Given the description of an element on the screen output the (x, y) to click on. 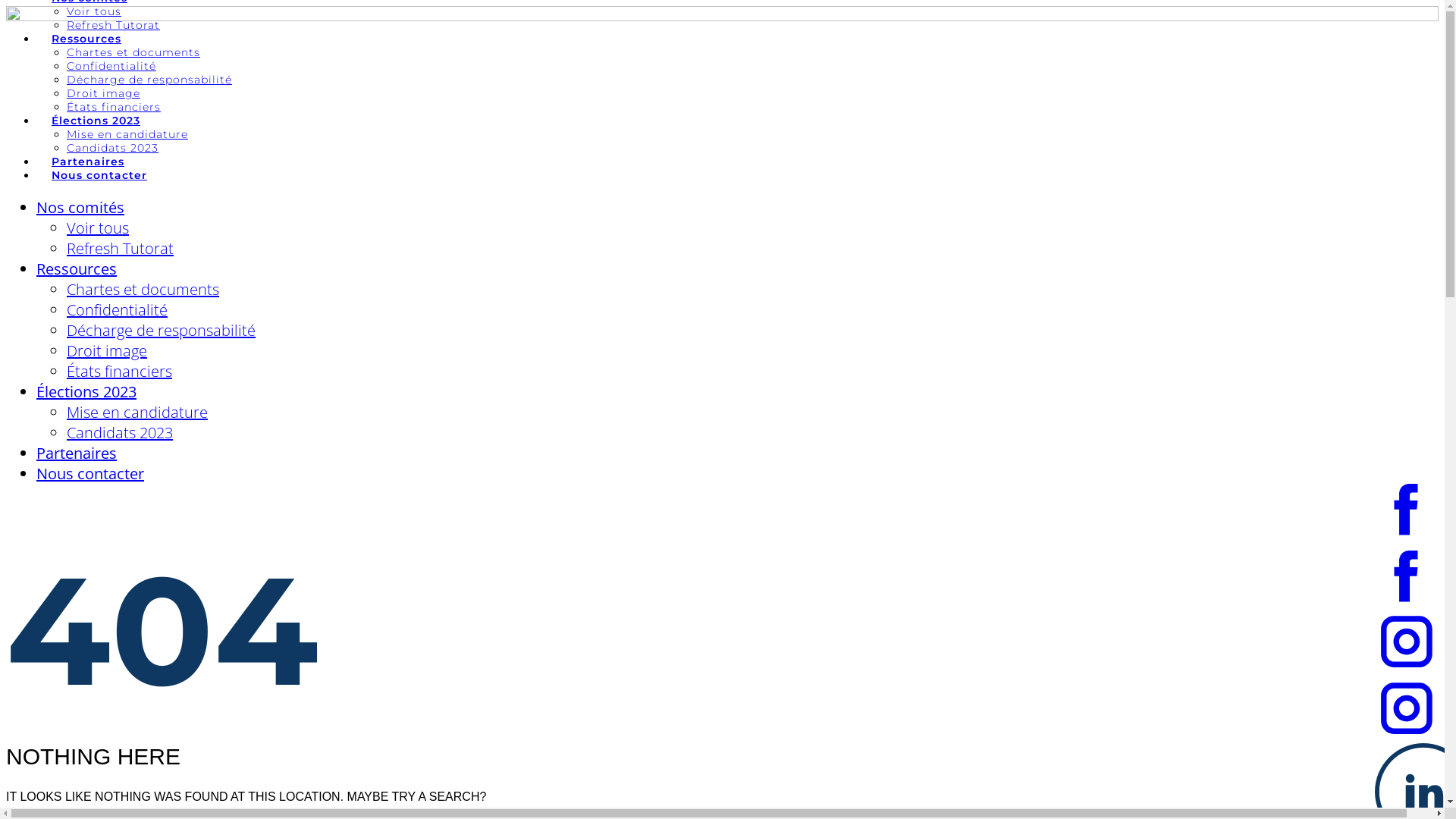
Refresh Tutorat Element type: text (119, 248)
Partenaires Element type: text (76, 452)
Candidats 2023 Element type: text (112, 147)
Mise en candidature Element type: text (127, 134)
Refresh Tutorat Element type: text (113, 24)
Chartes et documents Element type: text (133, 52)
Ressources Element type: text (86, 38)
Candidats 2023 Element type: text (119, 432)
Skip to content Element type: text (5, 5)
Voir tous Element type: text (97, 227)
Accueil Element type: hover (722, 16)
Nous contacter Element type: text (99, 174)
Voir tous Element type: text (93, 11)
Mise en candidature Element type: text (136, 411)
instagram Element type: hover (1406, 702)
Ressources Element type: text (76, 268)
Chartes et documents Element type: text (142, 289)
Partenaires Element type: text (87, 161)
Droit image Element type: text (106, 350)
Nous contacter Element type: text (90, 473)
Droit image Element type: text (103, 93)
facebook Element type: hover (1406, 568)
